Given the description of an element on the screen output the (x, y) to click on. 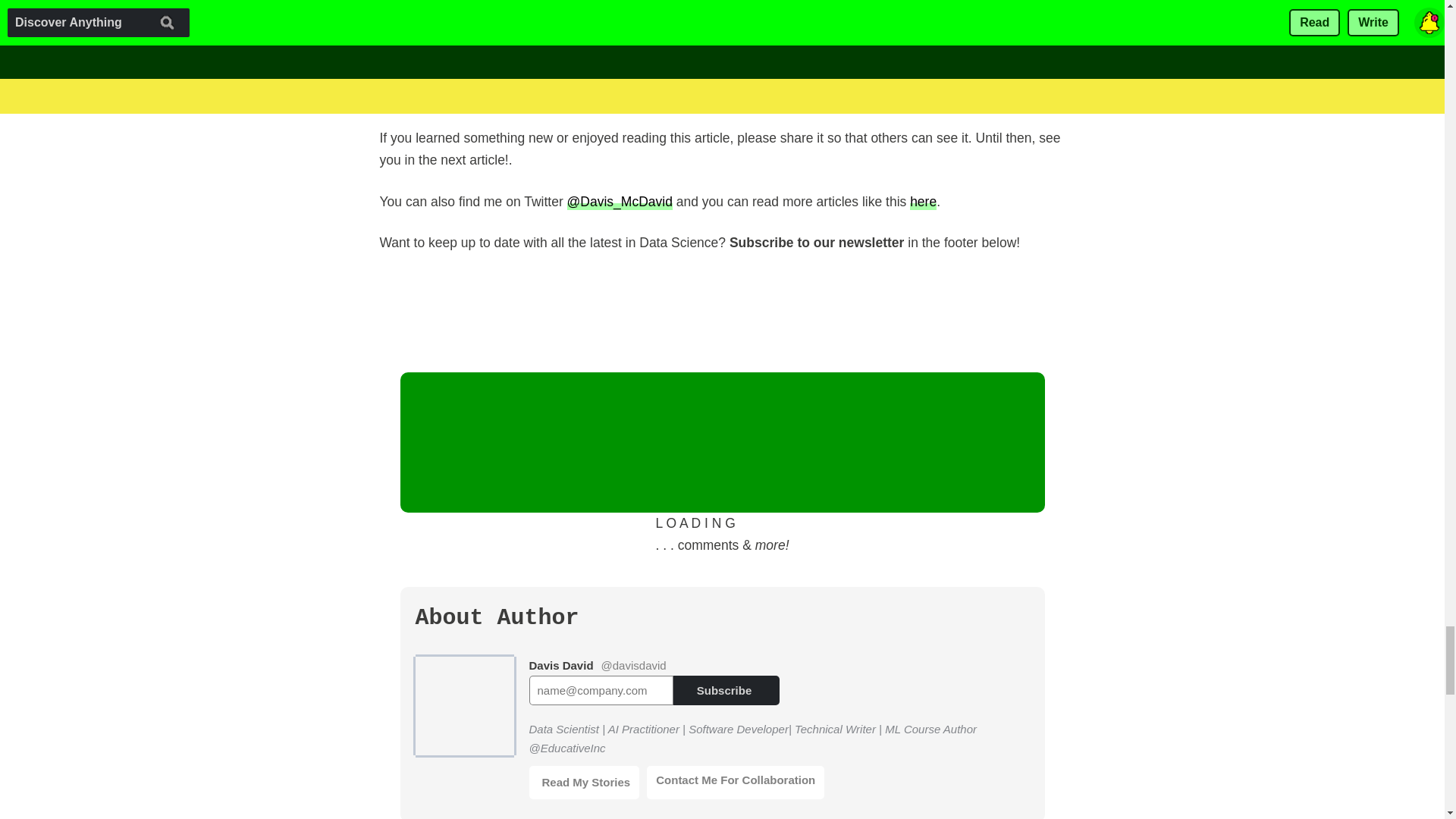
here (923, 200)
Contact Me For Collaboration (735, 782)
Read My Stories (584, 782)
Subscribe (725, 690)
here. (827, 96)
